Given the description of an element on the screen output the (x, y) to click on. 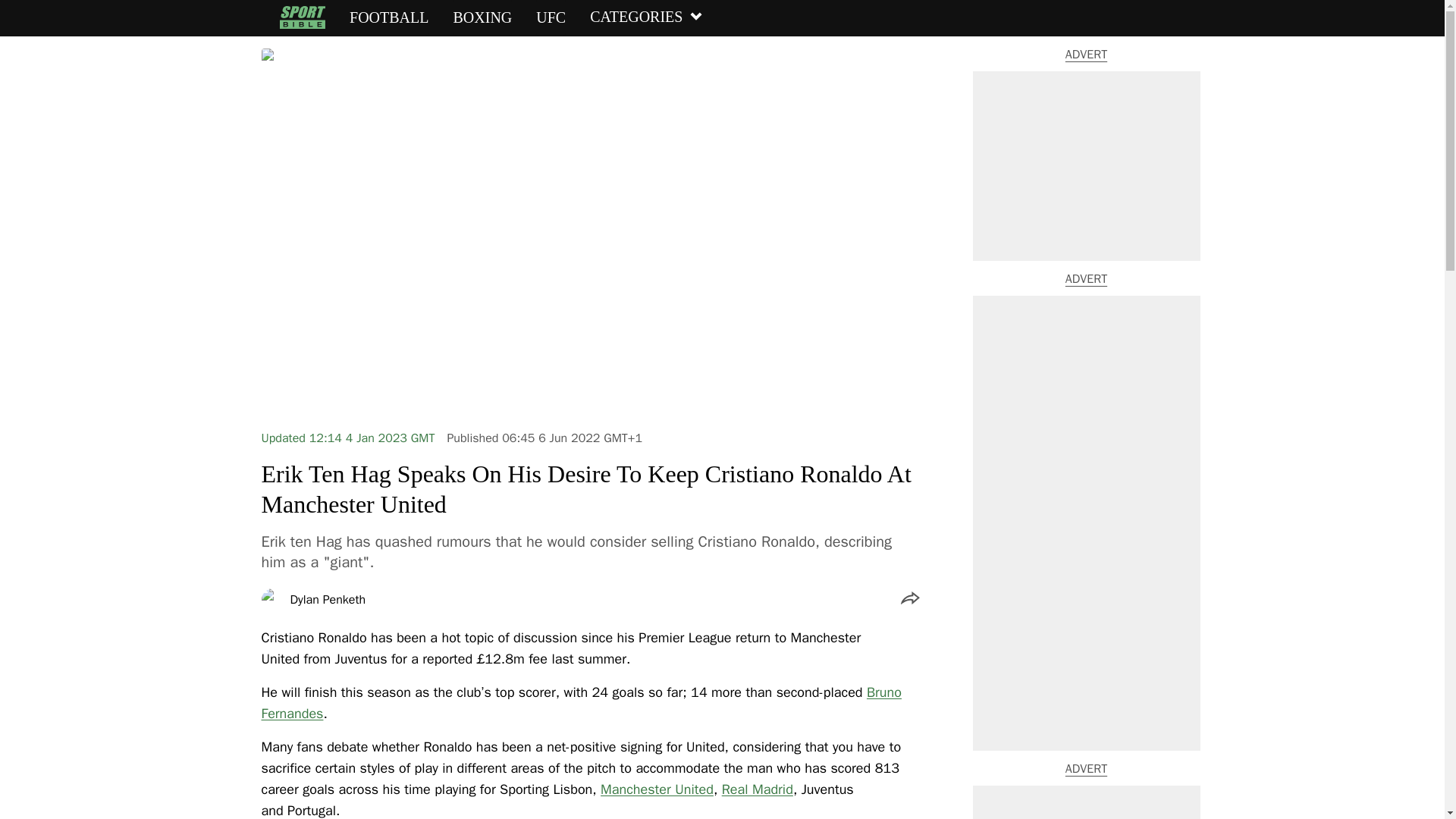
FOOTBALL (388, 17)
BOXING (482, 17)
